Given the description of an element on the screen output the (x, y) to click on. 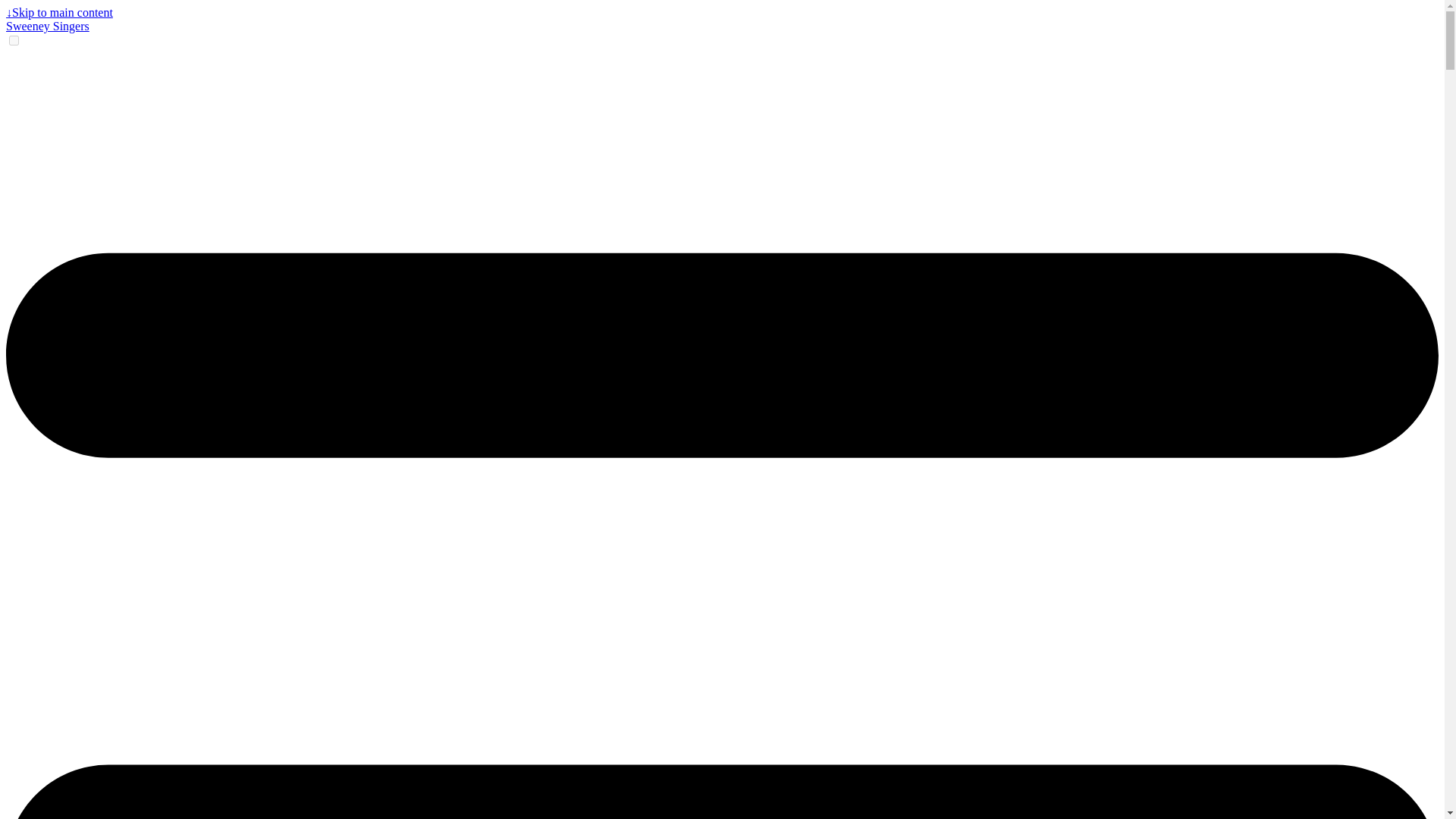
Sweeney Singers (46, 25)
on (13, 40)
